Given the description of an element on the screen output the (x, y) to click on. 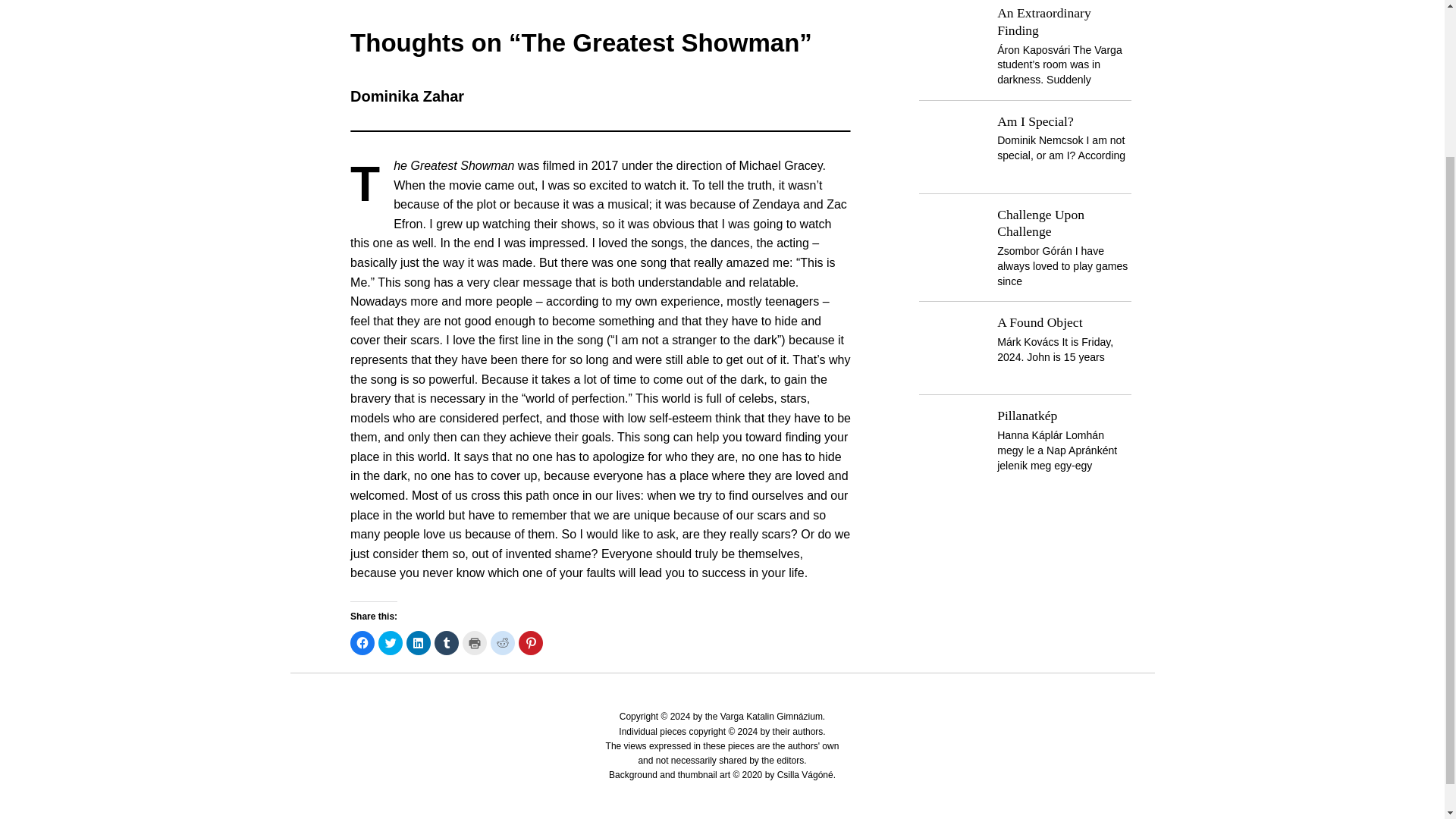
Challenge Upon Challenge (1040, 223)
An Extraordinary Finding (1043, 20)
Click to share on Tumblr (445, 642)
Click to share on LinkedIn (418, 642)
Am I Special? (1035, 120)
Click to share on Reddit (502, 642)
Click to share on Pinterest (530, 642)
Click to share on Twitter (390, 642)
Click to share on Facebook (362, 642)
Click to print (474, 642)
